Given the description of an element on the screen output the (x, y) to click on. 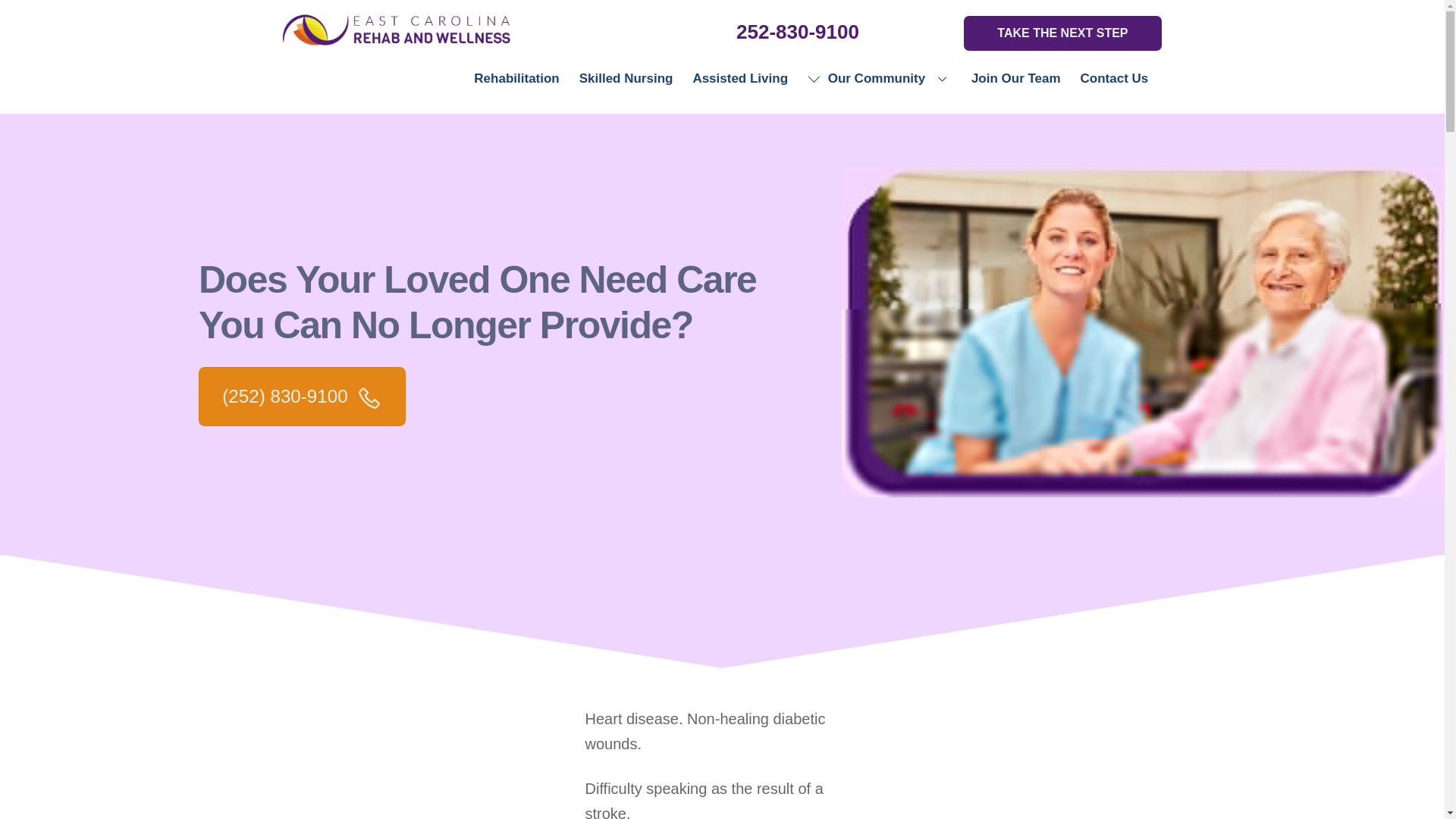
Join Our Team (1015, 77)
252-830-9100 (797, 31)
Contact Us (1113, 77)
TAKE THE NEXT STEP (1061, 33)
East Carolina Rehab (395, 38)
Skilled Nursing (626, 77)
Rehabilitation (516, 77)
Our Community (879, 77)
Assisted Living (739, 77)
